Given the description of an element on the screen output the (x, y) to click on. 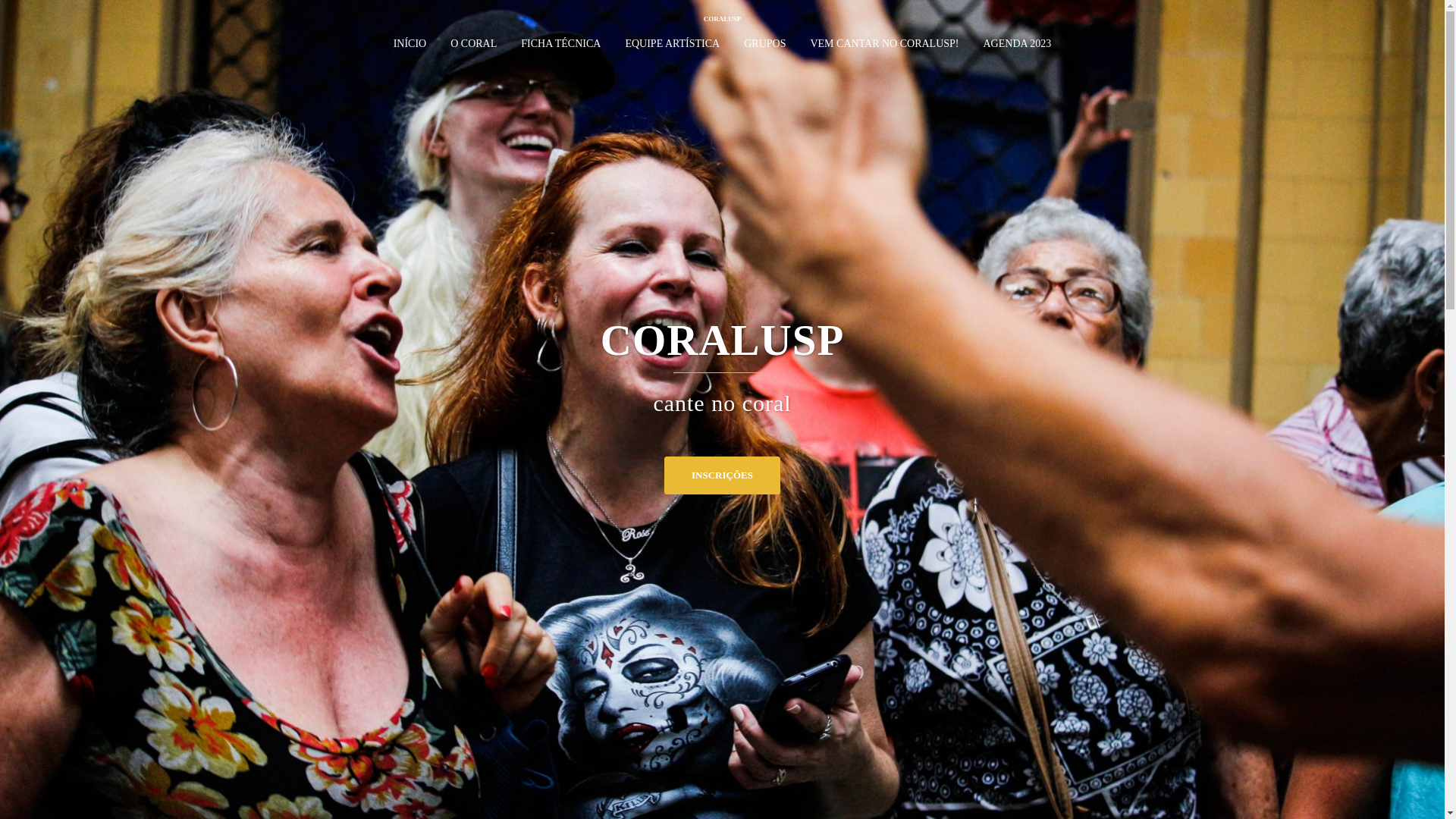
AGENDA 2023 Element type: text (1016, 43)
VEM CANTAR NO CORALUSP! Element type: text (883, 43)
GRUPOS Element type: text (764, 43)
O CORAL Element type: text (473, 43)
CORALUSP Element type: text (722, 18)
